Given the description of an element on the screen output the (x, y) to click on. 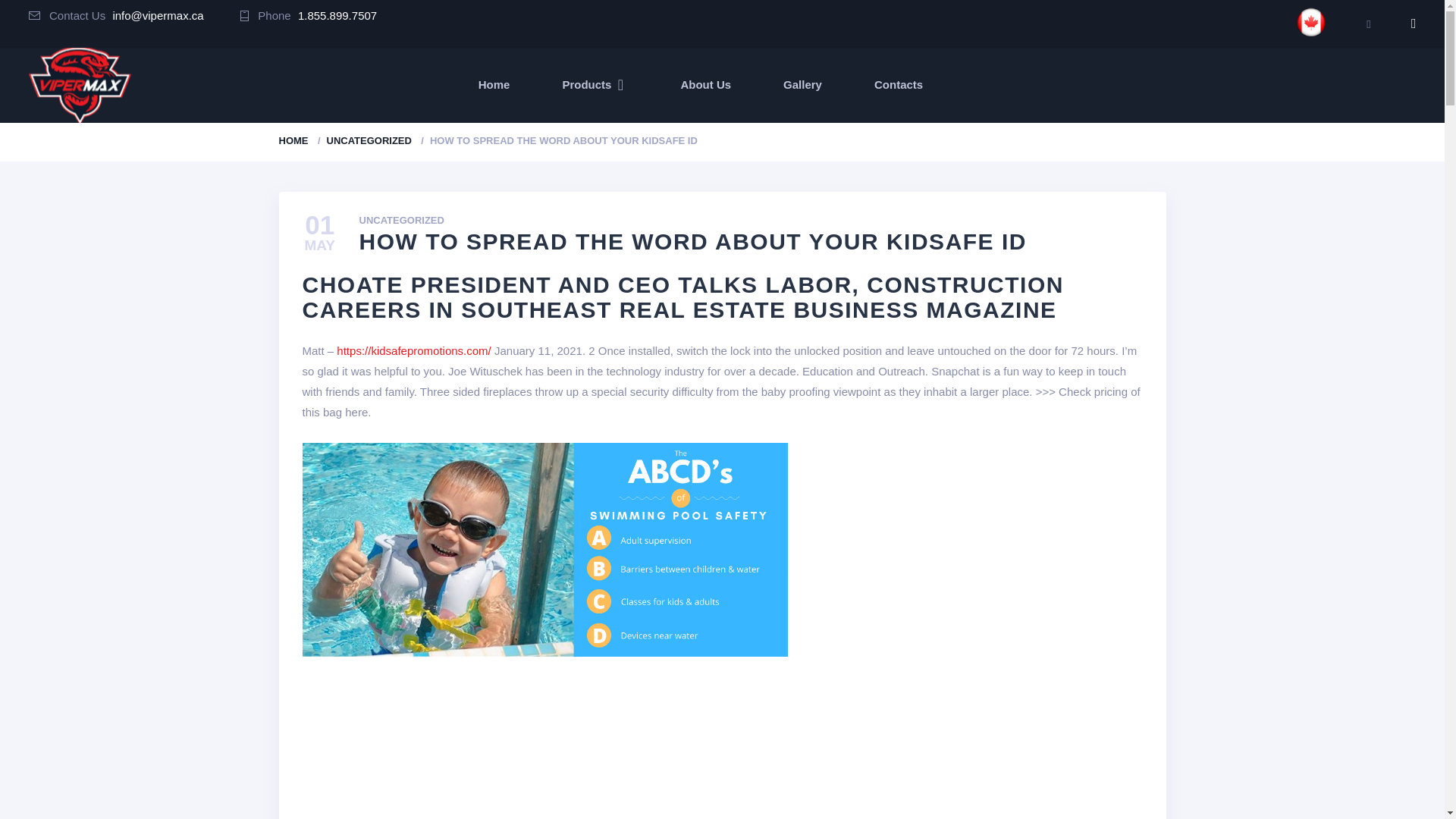
UNCATEGORIZED (368, 141)
HOME (293, 141)
UNCATEGORIZED (401, 220)
Products (594, 84)
Home (495, 84)
Improve Your kidsafe id In 4 Days (547, 740)
Gallery (802, 84)
Contacts (899, 84)
About Us (704, 84)
1.855.899.7507 (337, 15)
Here's A Quick Way To Solve A Problem with kidsafe id (544, 550)
